Given the description of an element on the screen output the (x, y) to click on. 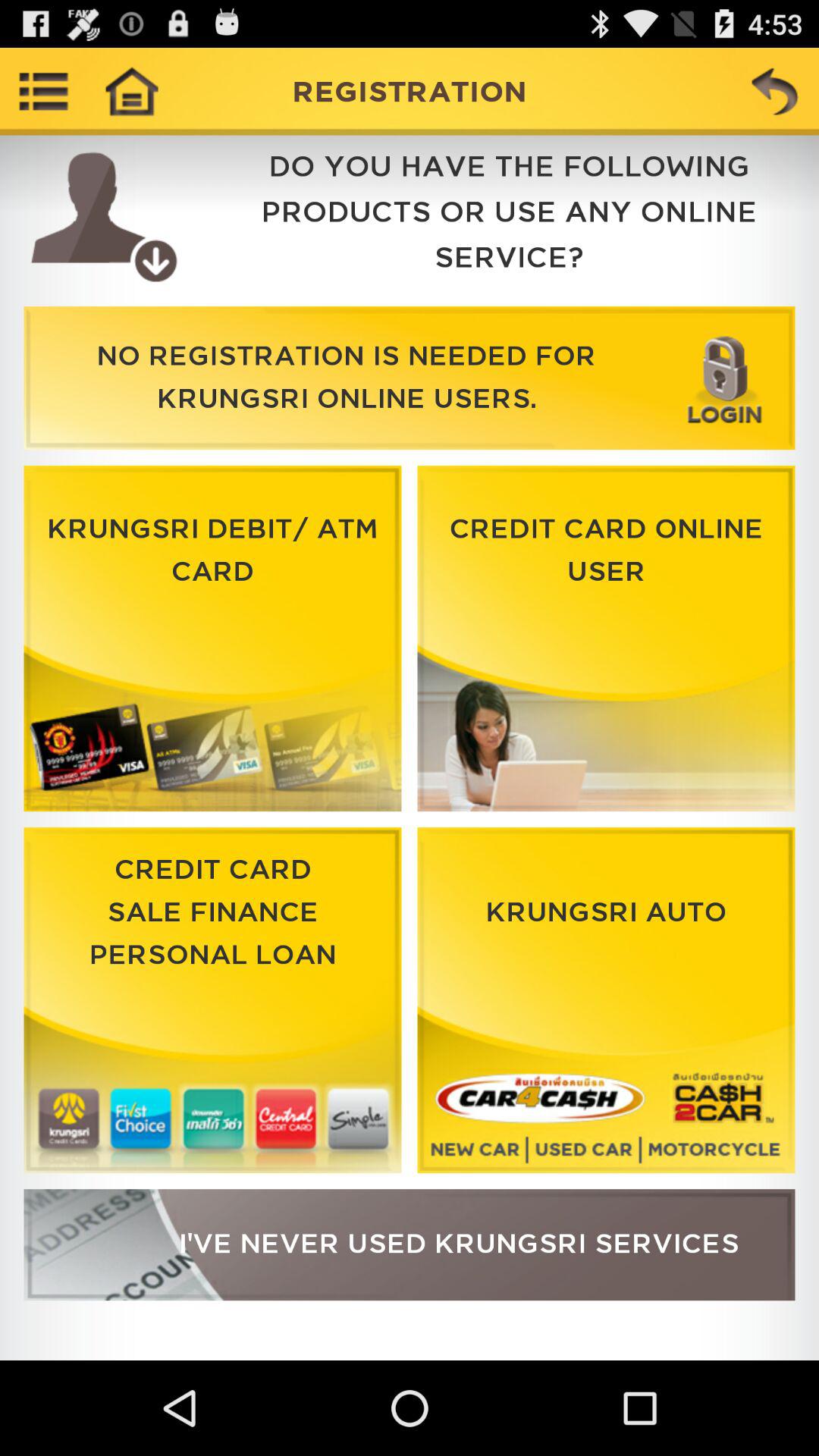
register with credit card sale finance personal loan option (212, 1000)
